Given the description of an element on the screen output the (x, y) to click on. 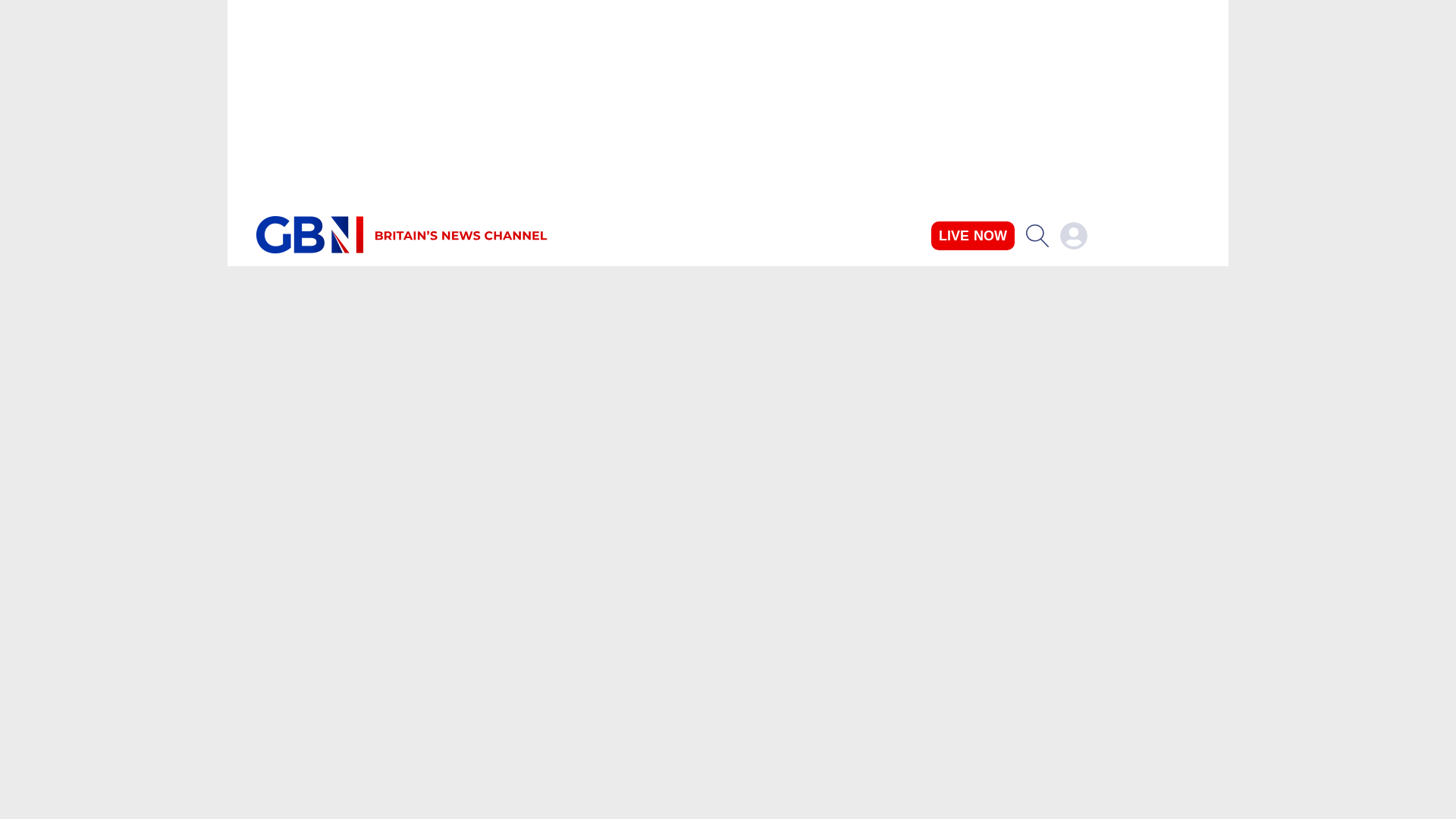
Search (1037, 235)
LIVE (972, 235)
GBN Britain's News Channel (310, 235)
